Given the description of an element on the screen output the (x, y) to click on. 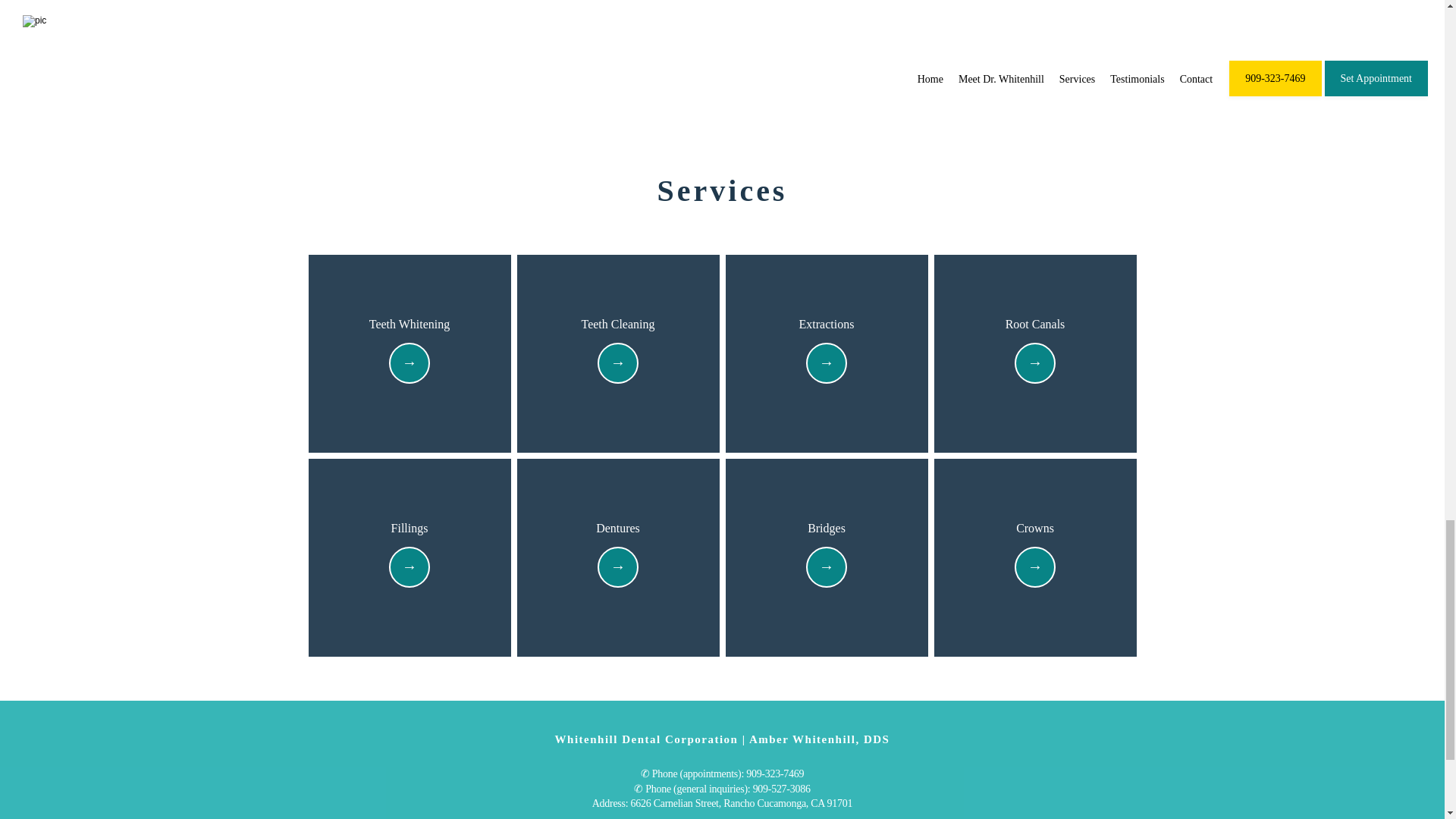
Extractions (826, 325)
Read More (409, 568)
Crowns (1035, 529)
Read More (618, 364)
Read More (618, 568)
Root Canals (1035, 325)
Fillings (409, 529)
Read More (409, 364)
Read More (1034, 568)
Read More (826, 568)
Dentures (617, 529)
Read More (1034, 364)
Teeth Whitening (409, 325)
Read More (826, 364)
Bridges (826, 529)
